Given the description of an element on the screen output the (x, y) to click on. 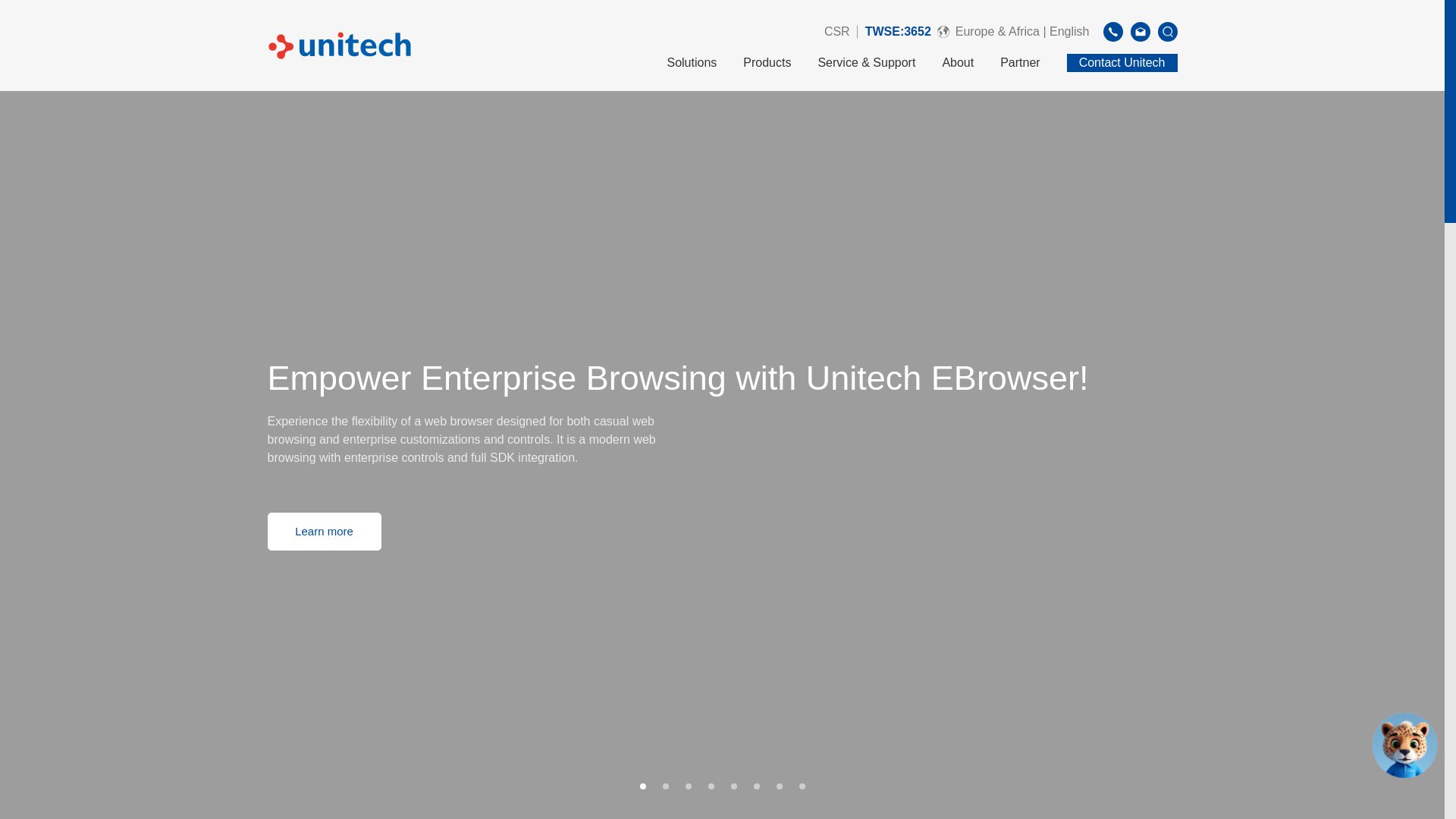
Solutions (691, 72)
CSR (837, 31)
TWSE:3652 (897, 31)
Products (766, 72)
